Given the description of an element on the screen output the (x, y) to click on. 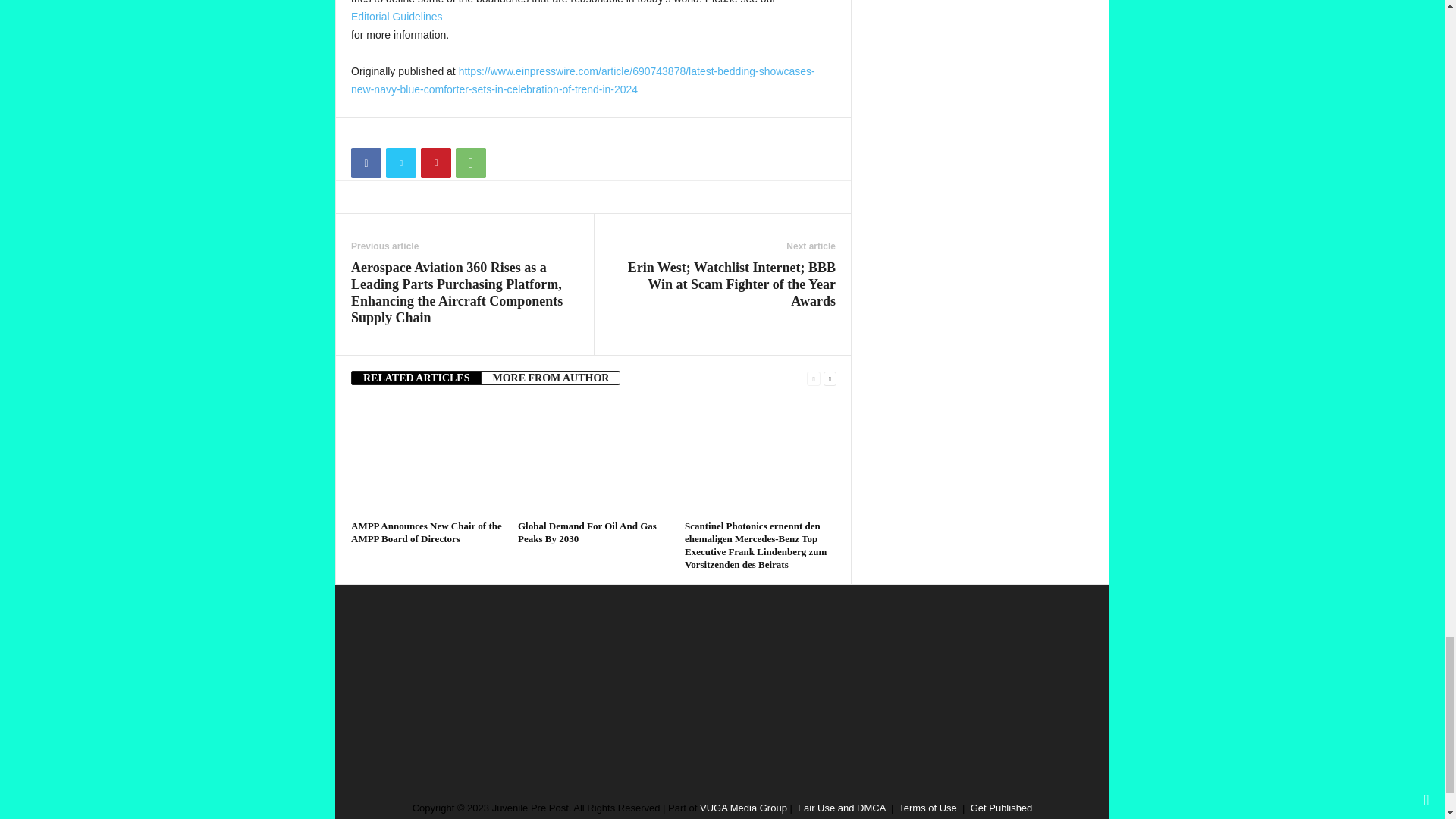
Facebook (365, 163)
